Given the description of an element on the screen output the (x, y) to click on. 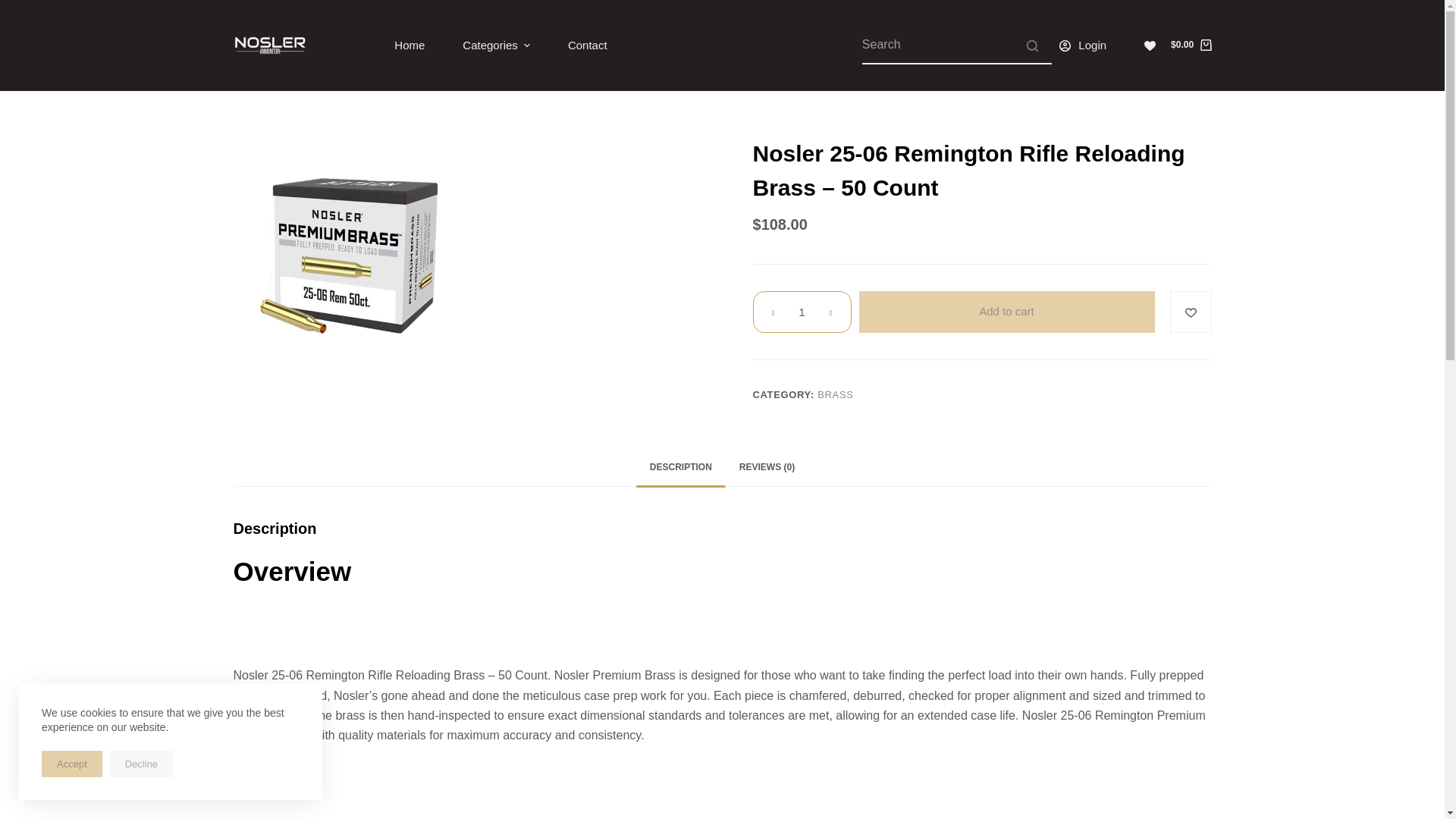
M38 (351, 255)
Search for... (956, 45)
Skip to content (15, 7)
52 (1168, 34)
1 (801, 311)
Accept (71, 764)
Contact (587, 45)
Login (1082, 45)
Categories (496, 45)
Home (409, 45)
Decline (141, 764)
